Given the description of an element on the screen output the (x, y) to click on. 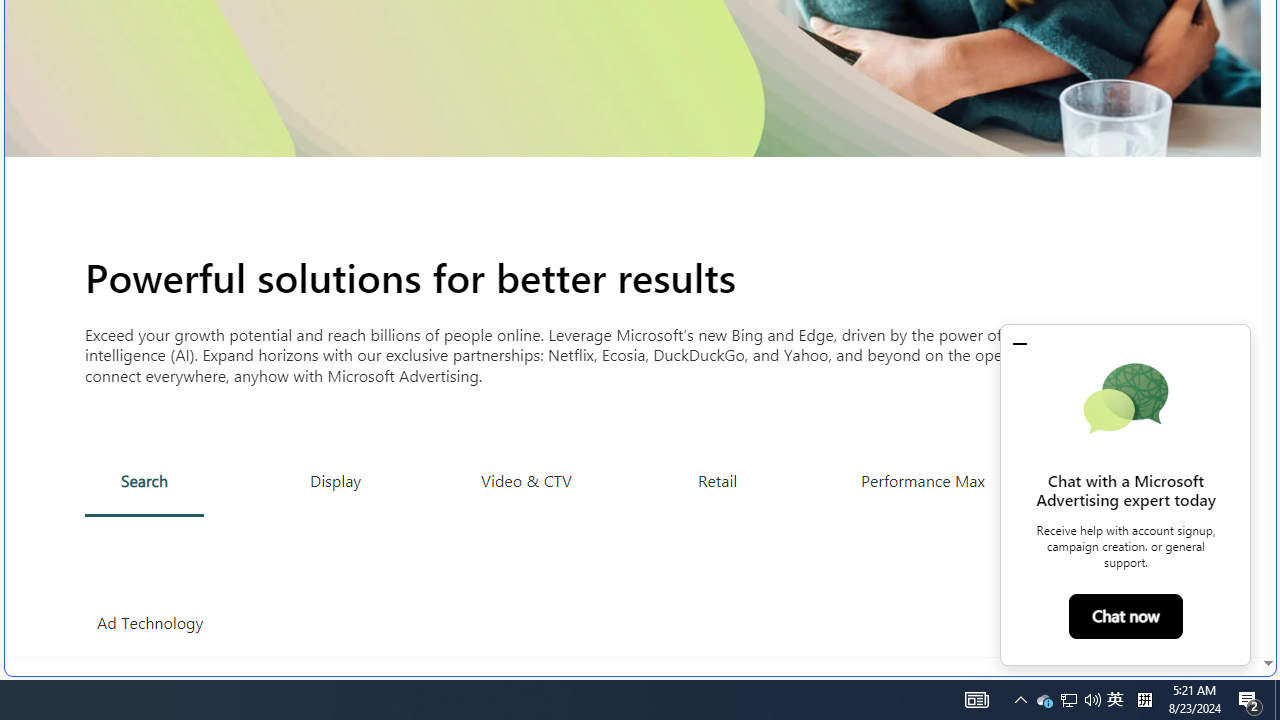
Retail (716, 480)
Performance Max (922, 480)
Chat now (1125, 616)
Search (143, 481)
Ad Technology (150, 623)
close (1020, 343)
Display (335, 480)
Video & CTV (526, 480)
